Given the description of an element on the screen output the (x, y) to click on. 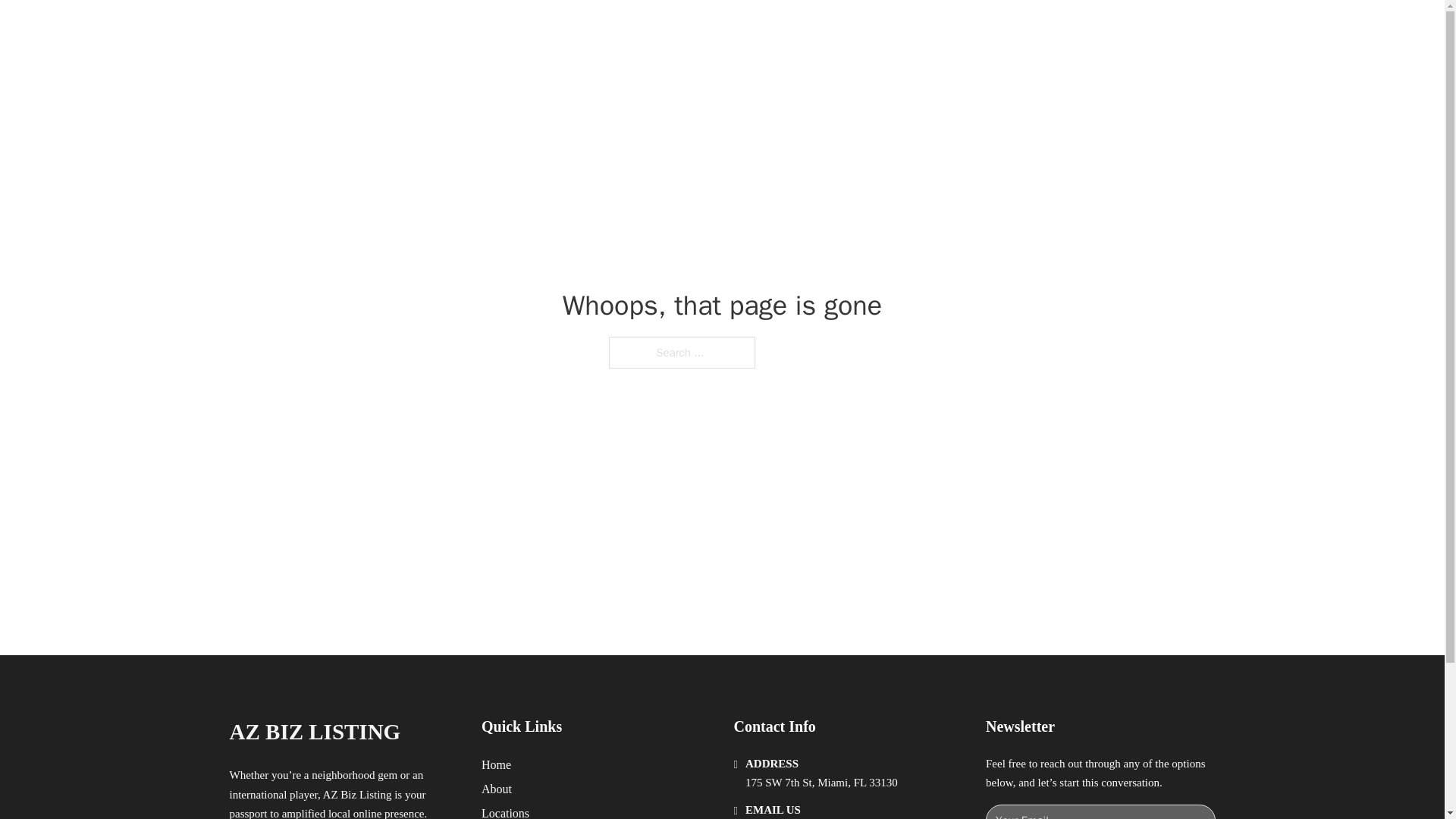
LOCATIONS (990, 29)
AZ BIZ LISTING (387, 28)
HOME (919, 29)
Home (496, 764)
About (496, 788)
AZ BIZ LISTING (314, 732)
Locations (505, 811)
